Given the description of an element on the screen output the (x, y) to click on. 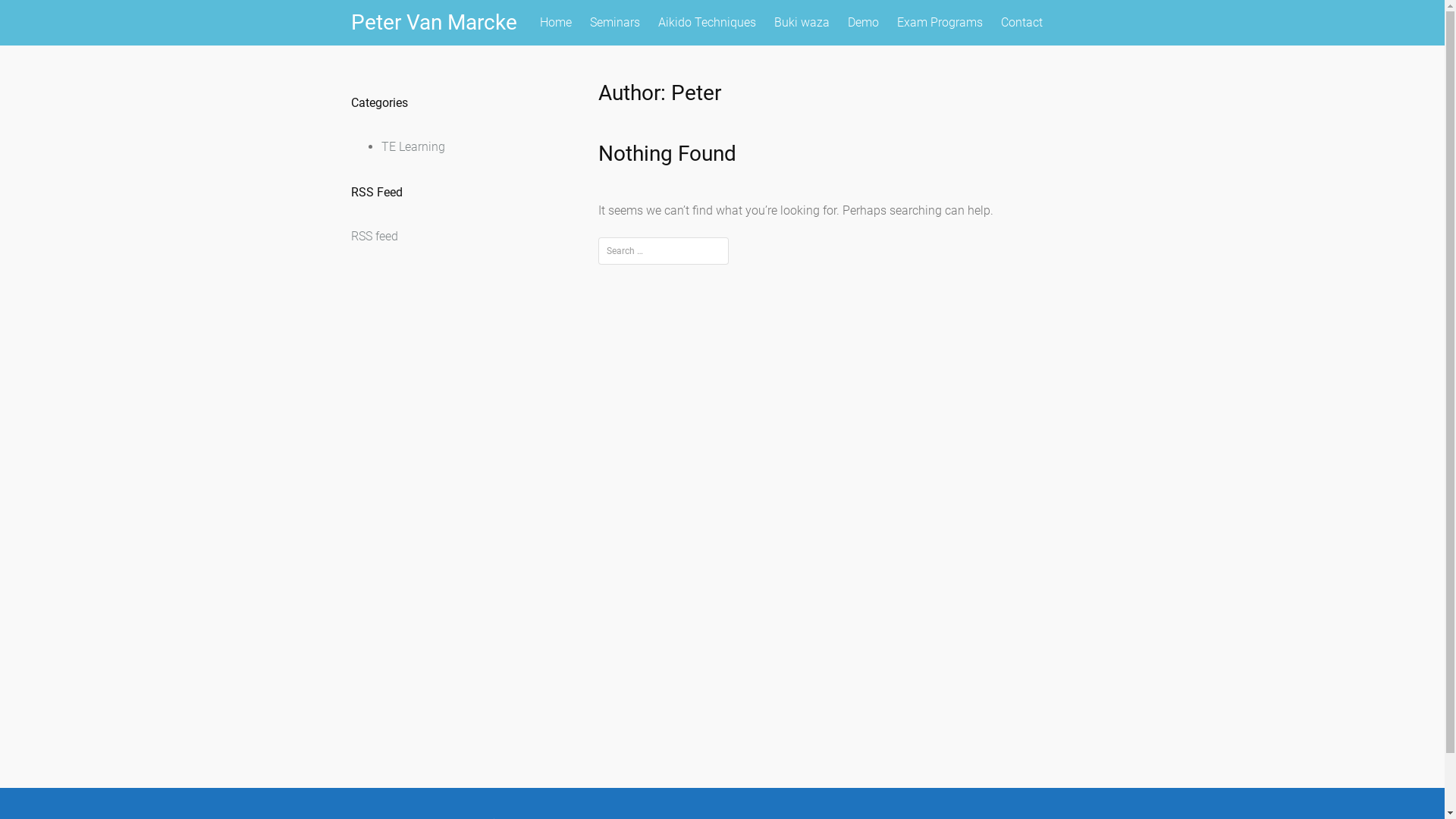
Buki waza Element type: text (800, 22)
Demo Element type: text (863, 22)
Home Element type: text (555, 22)
Search Element type: text (35, 15)
RSS feed Element type: text (373, 236)
Seminars Element type: text (614, 22)
Aikido Techniques Element type: text (706, 22)
Exam Programs Element type: text (938, 22)
Contact Element type: text (1021, 22)
TE Learning Element type: text (412, 146)
Peter Van Marcke Element type: text (433, 22)
